Given the description of an element on the screen output the (x, y) to click on. 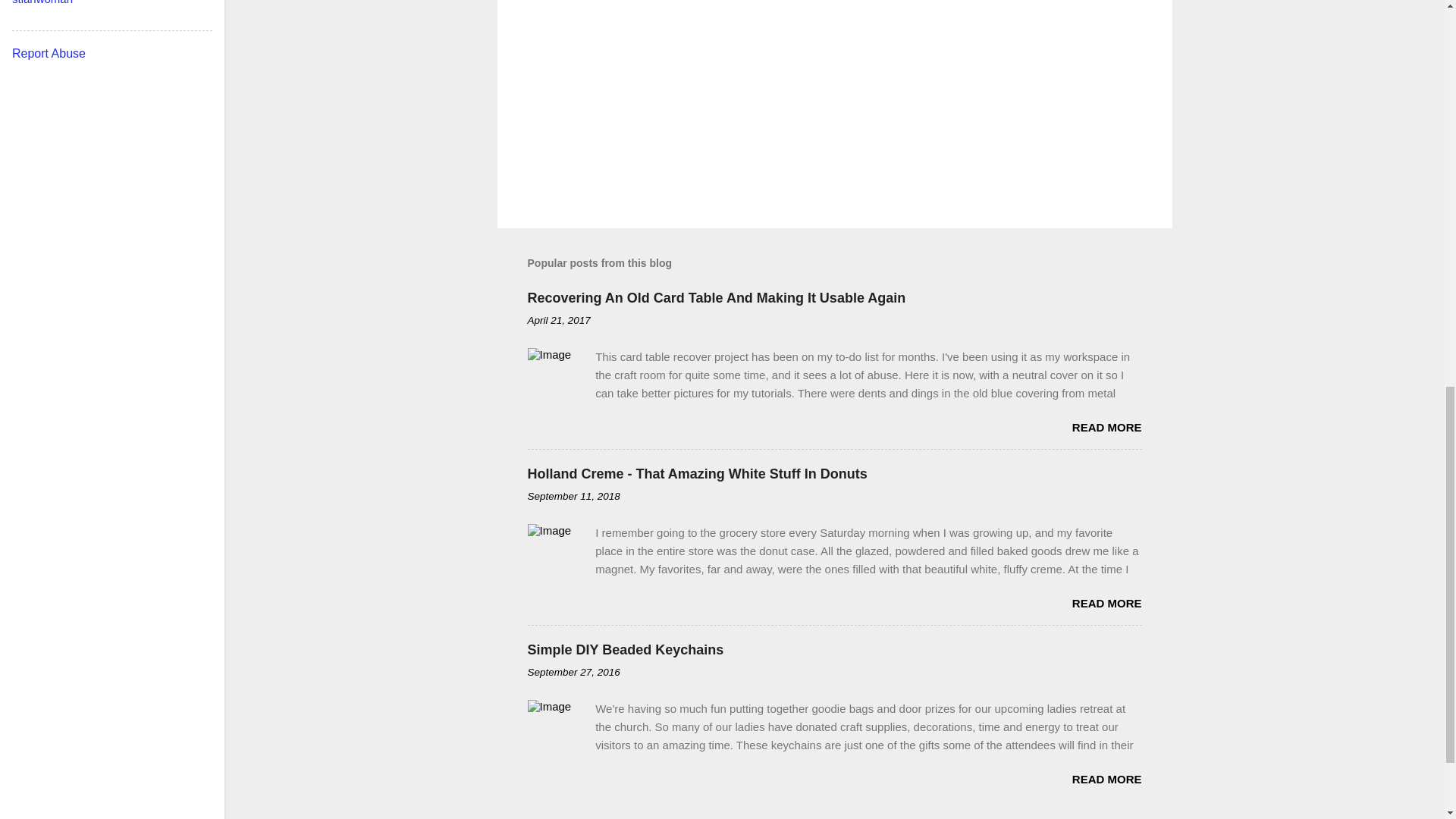
Recovering An Old Card Table And Making It Usable Again (716, 297)
READ MORE (1106, 603)
Simple DIY Beaded Keychains (625, 649)
permanent link (559, 319)
READ MORE (1106, 779)
READ MORE (1106, 427)
September 27, 2016 (573, 672)
Holland Creme - That Amazing White Stuff In Donuts (697, 473)
September 11, 2018 (573, 496)
April 21, 2017 (559, 319)
